Given the description of an element on the screen output the (x, y) to click on. 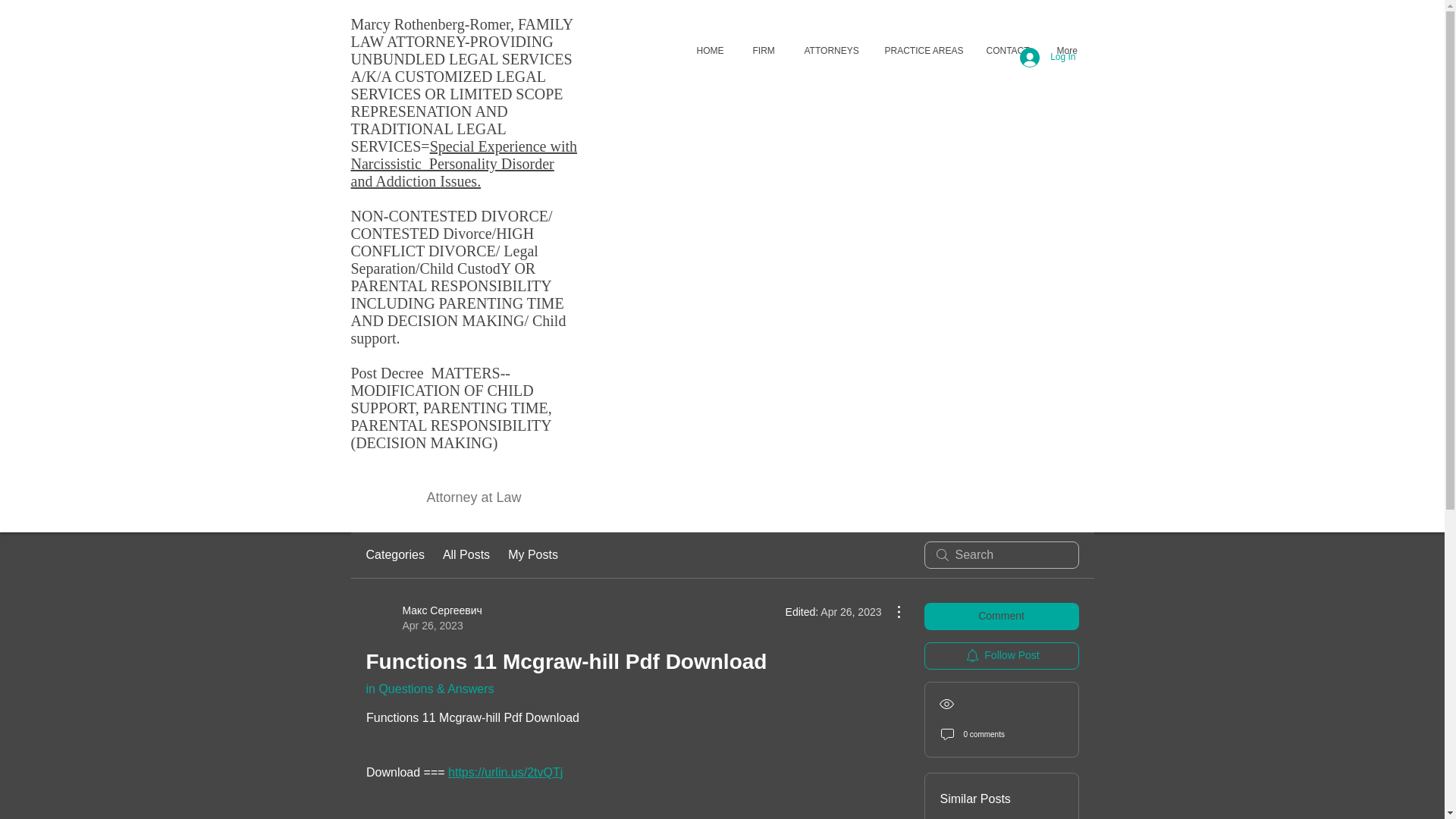
Follow Post (1000, 655)
Comment (1000, 615)
All Posts (465, 555)
ATTORNEYS (829, 50)
Log In (1047, 57)
My Posts (532, 555)
PRACTICE AREAS (920, 50)
Categories (394, 555)
CONTACT (1006, 50)
